Given the description of an element on the screen output the (x, y) to click on. 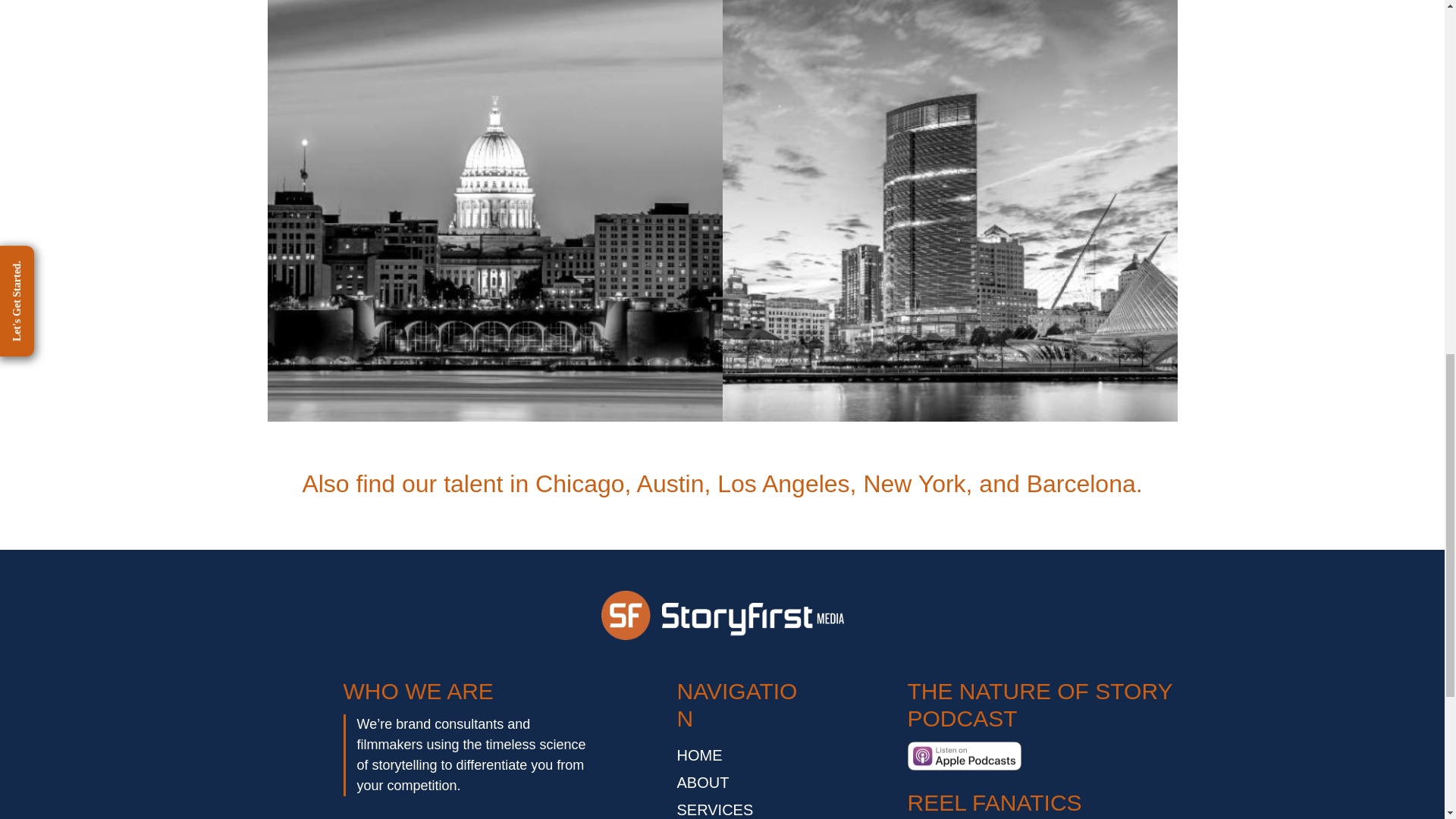
414.209.0165 (949, 243)
608.286.3826 (495, 243)
applepodcasts (963, 756)
SF-logo-800w (721, 614)
